Given the description of an element on the screen output the (x, y) to click on. 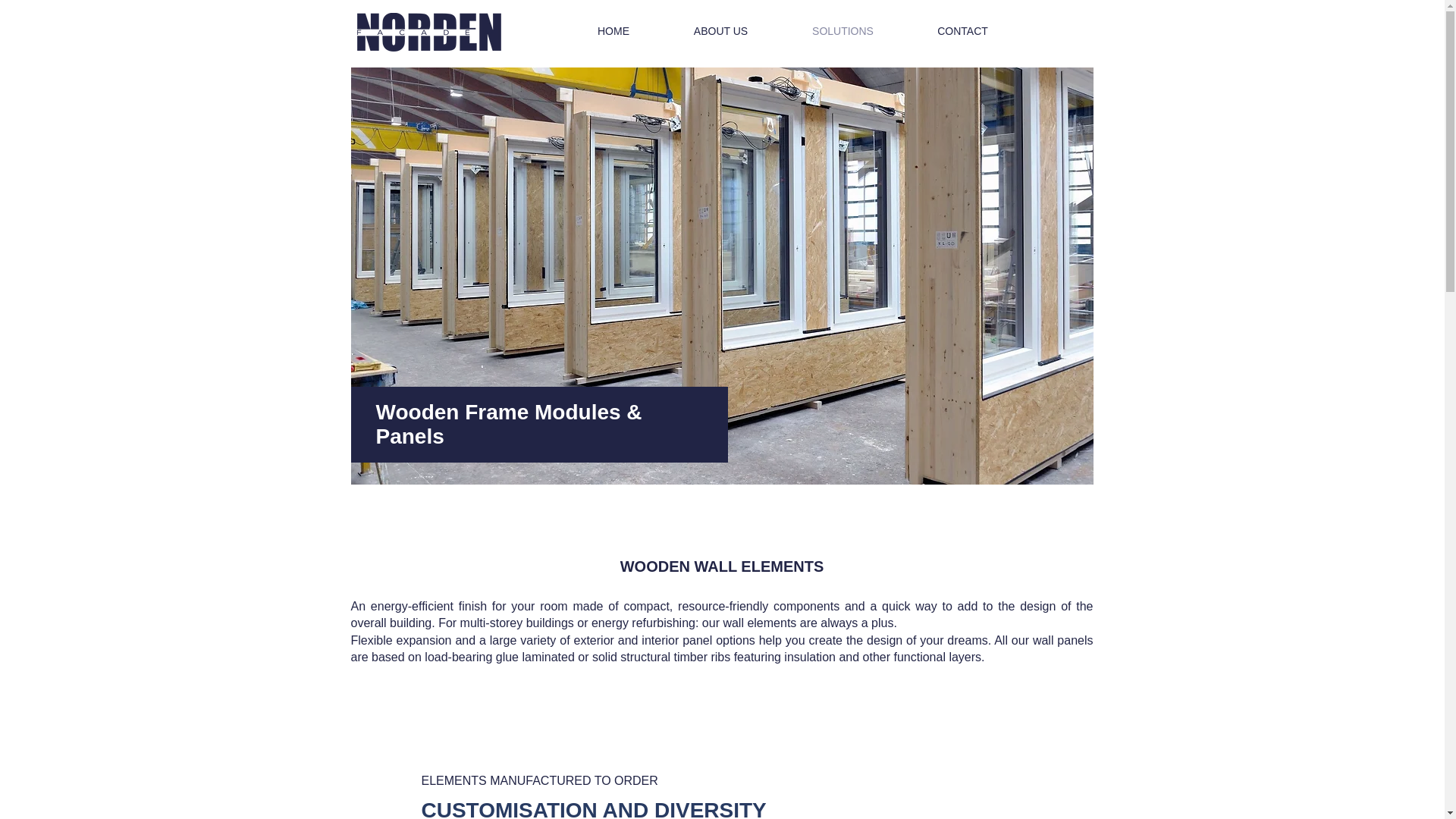
HOME (614, 30)
CONTACT (962, 30)
SOLUTIONS (841, 30)
ABOUT US (719, 30)
